Given the description of an element on the screen output the (x, y) to click on. 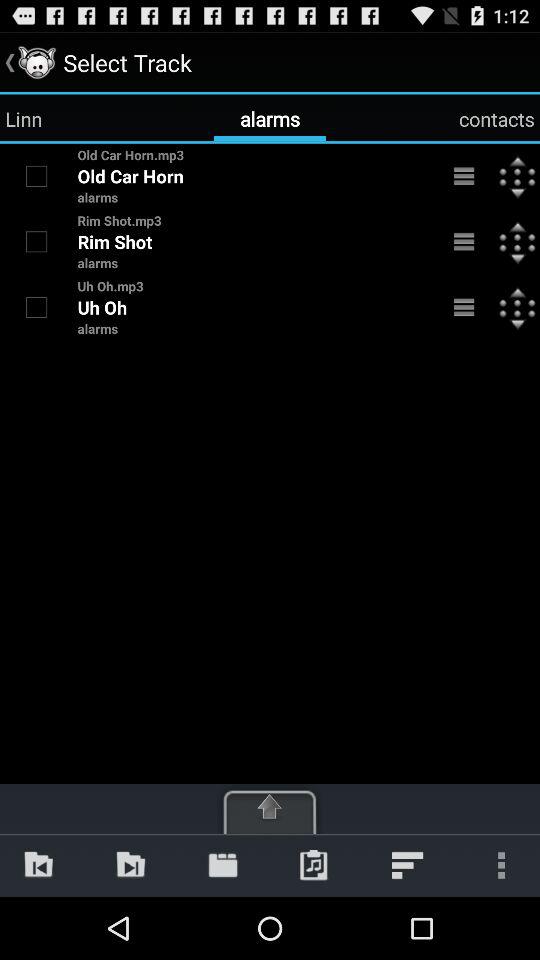
select alarm (36, 307)
